Given the description of an element on the screen output the (x, y) to click on. 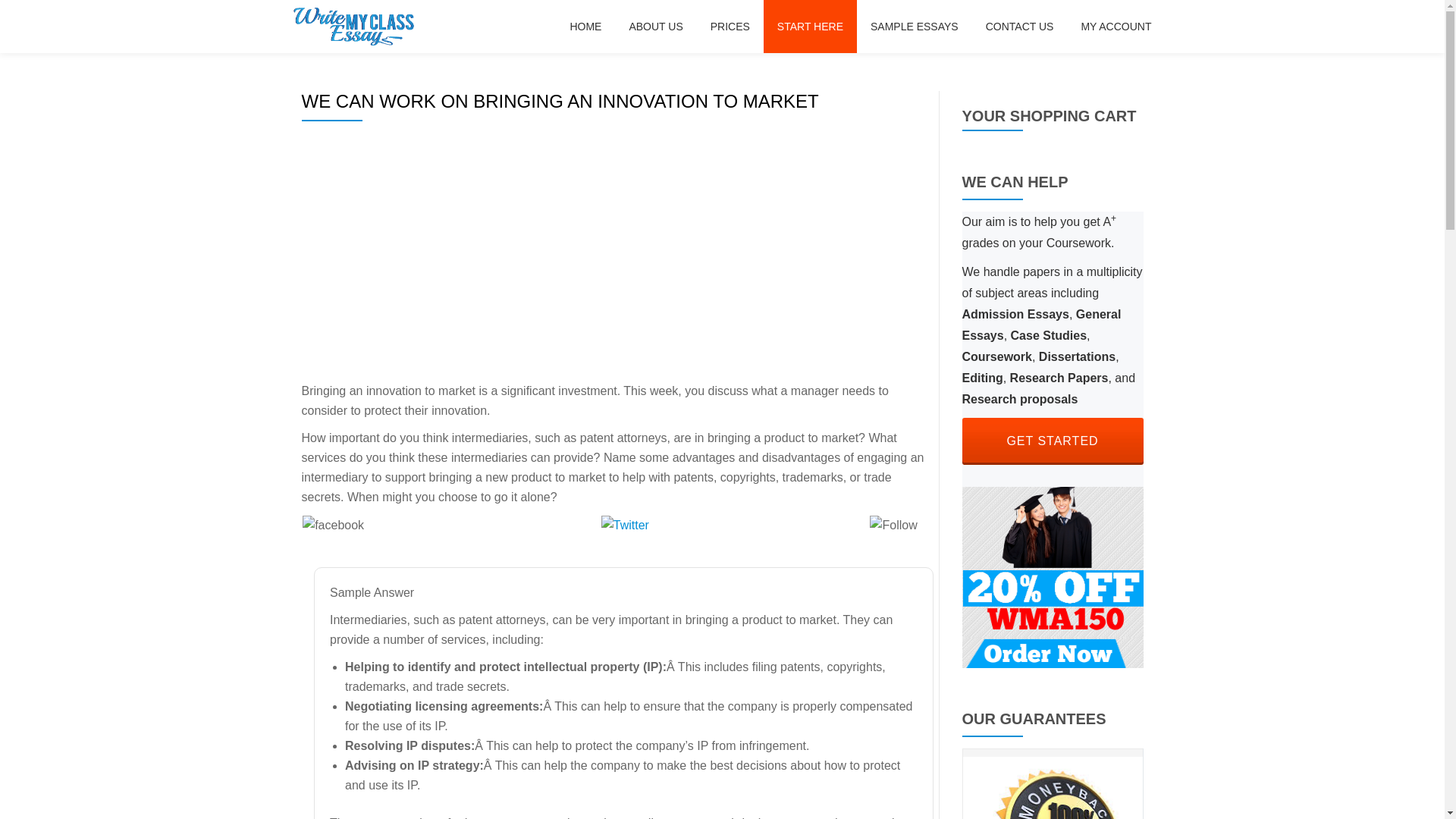
START HERE (810, 26)
 Order our Custom Essay Writing service (1051, 576)
Tweet (1051, 441)
MY ACCOUNT (641, 534)
HOME (1115, 26)
ABOUT US (585, 26)
PRICES (655, 26)
SAMPLE ESSAYS (729, 26)
CONTACT US (914, 26)
